Given the description of an element on the screen output the (x, y) to click on. 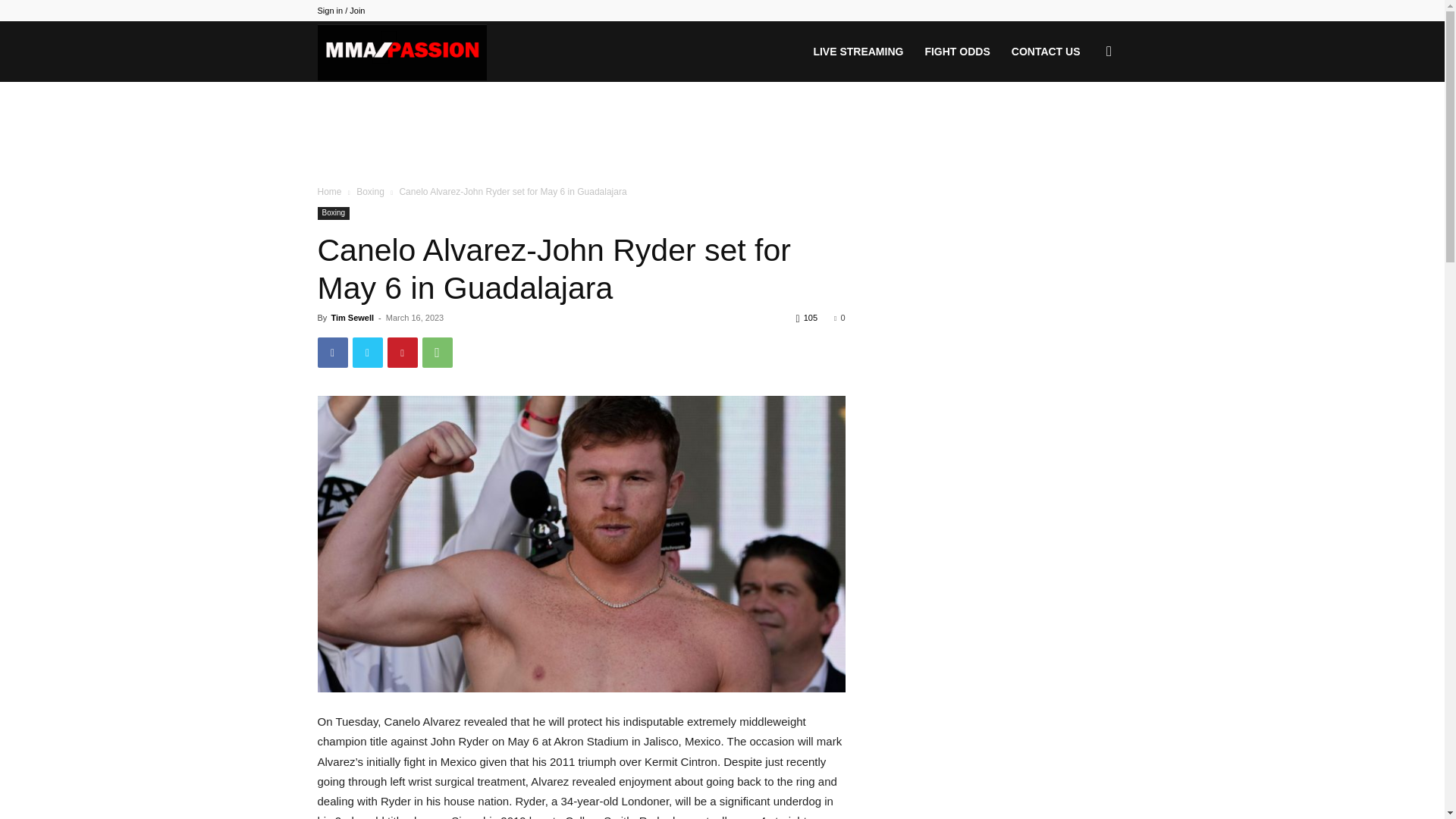
Home (328, 191)
LIVE STREAMING (858, 51)
CONTACT US (1045, 51)
Facebook (332, 352)
FIGHT ODDS (957, 51)
Tim Sewell (352, 317)
Search (1085, 124)
WhatsApp (436, 352)
0 (839, 317)
Boxing (333, 213)
Boxing (370, 191)
MMA Passion (401, 51)
Twitter (366, 352)
Pinterest (401, 352)
